Given the description of an element on the screen output the (x, y) to click on. 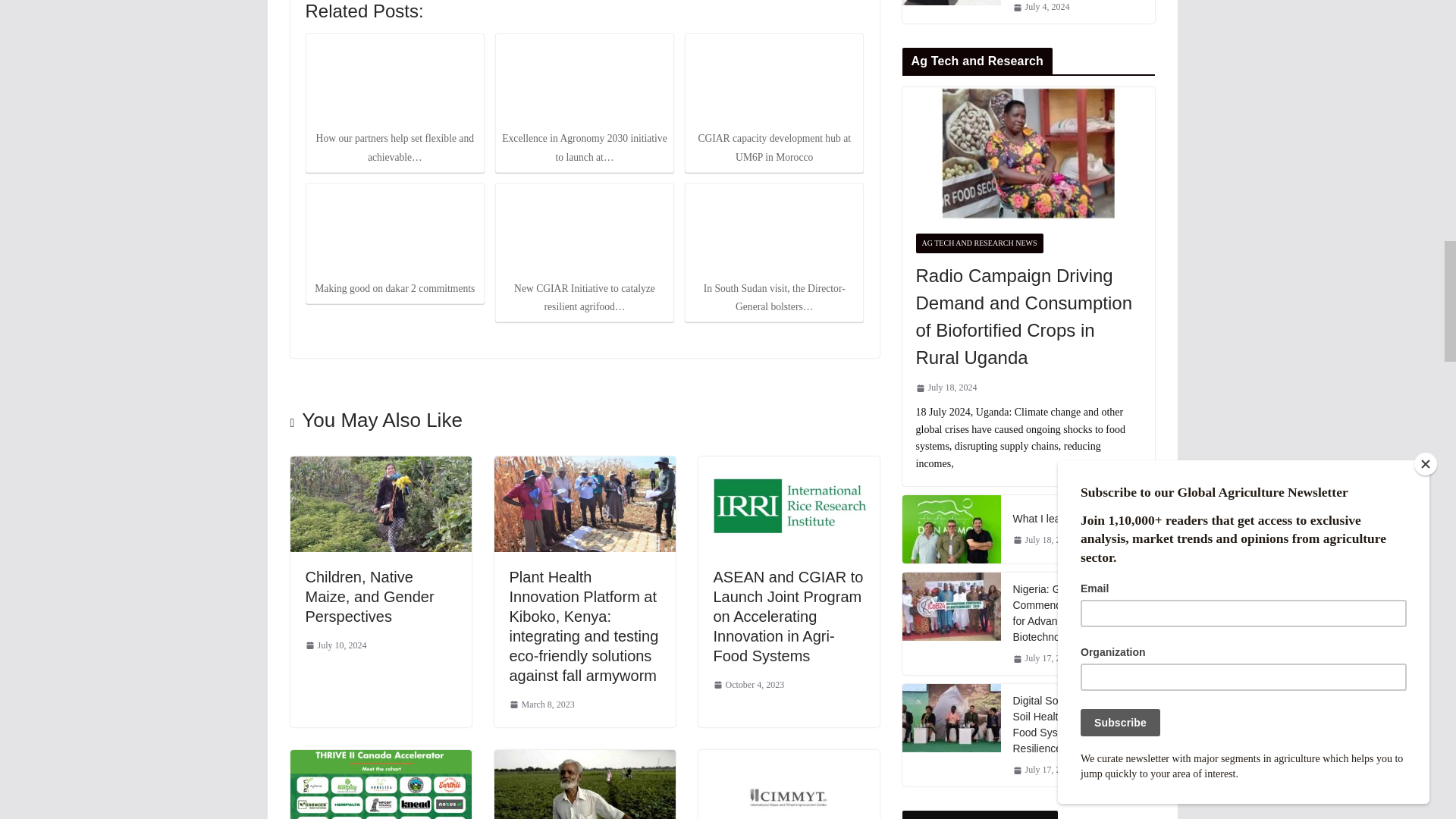
Making good on dakar 2 commitments (394, 230)
